Given the description of an element on the screen output the (x, y) to click on. 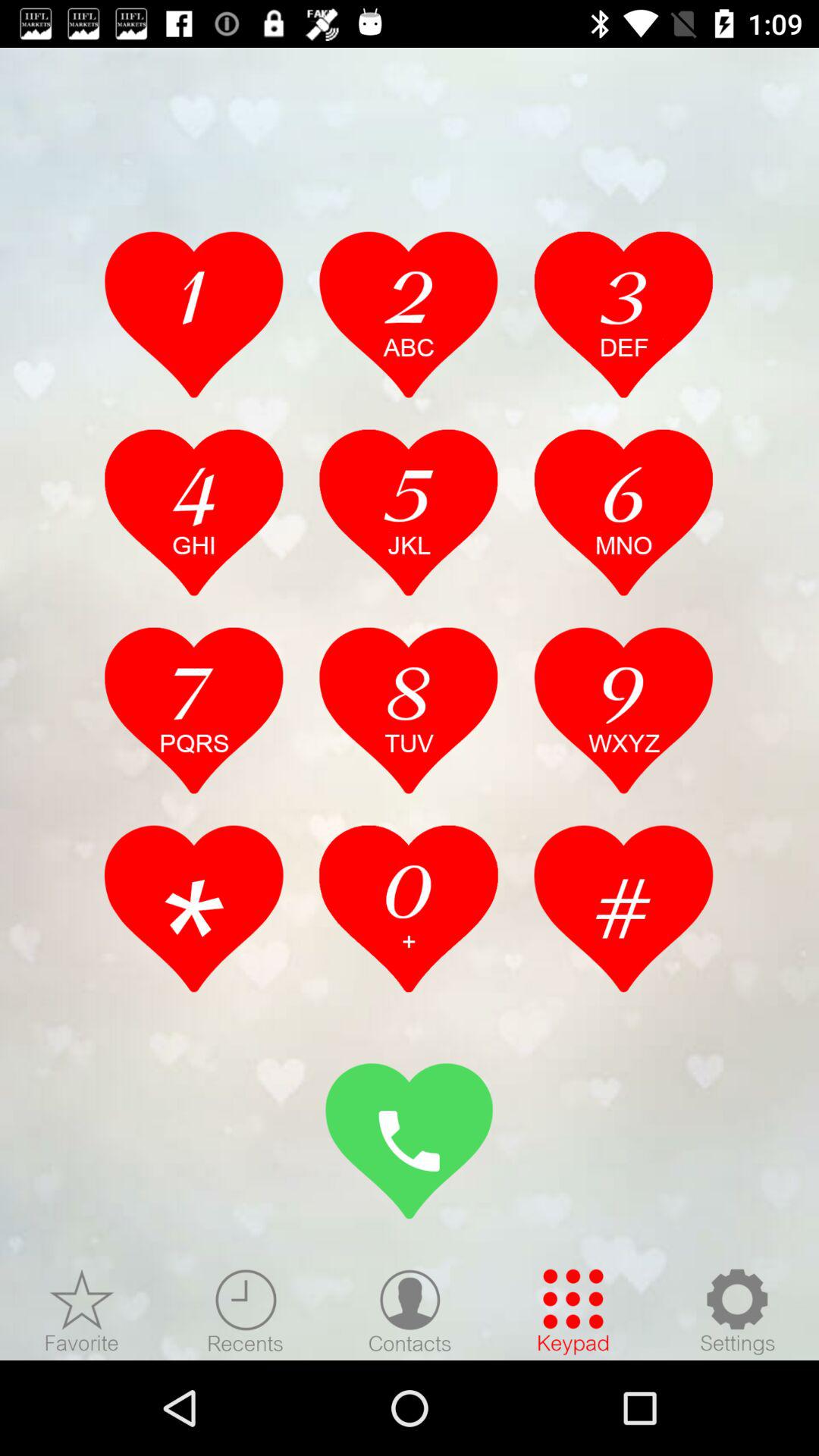
click number 5 on phone (408, 512)
